Given the description of an element on the screen output the (x, y) to click on. 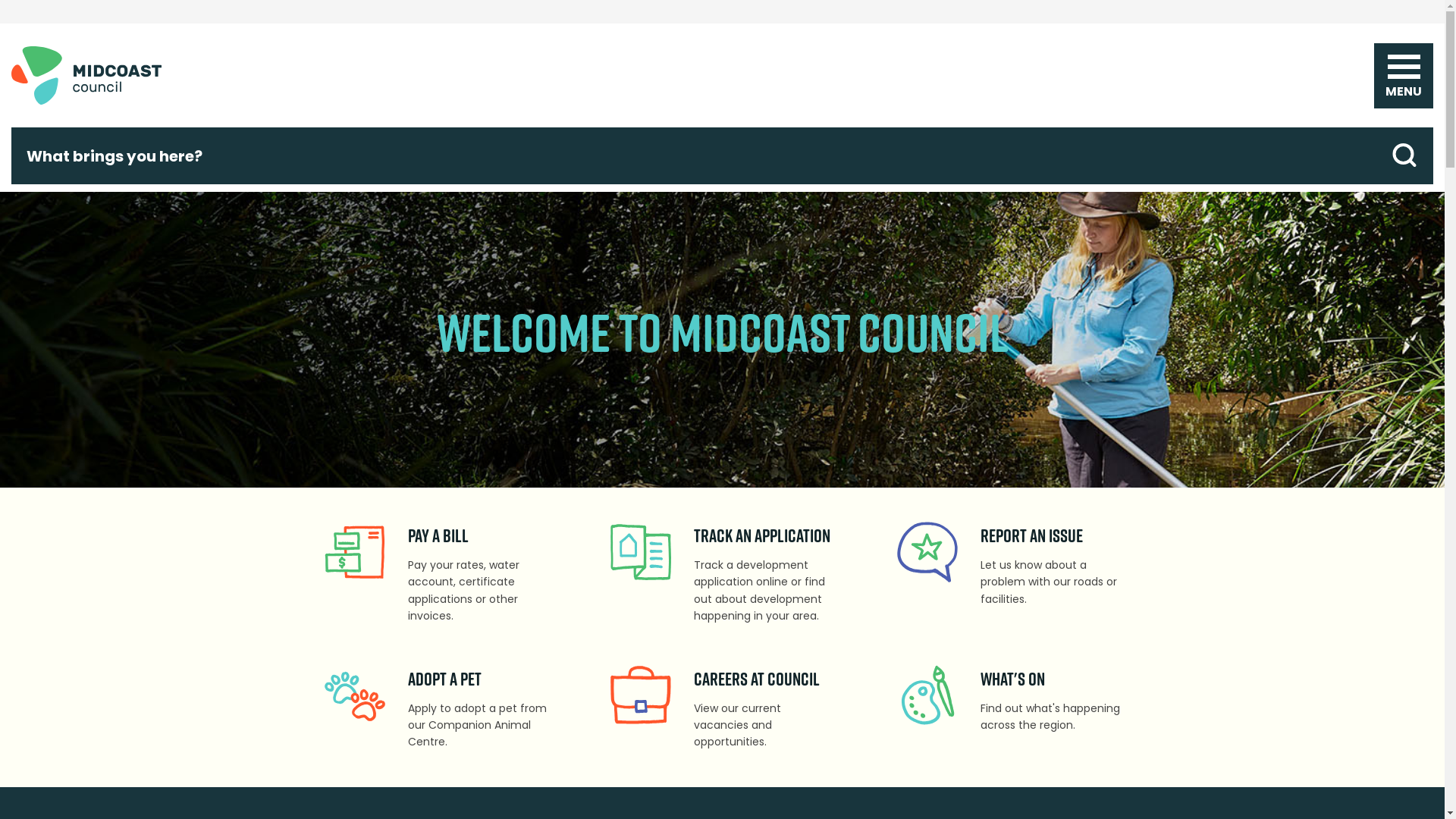
WHAT'S ON
Find out what's happening across the region. Element type: text (1007, 702)
Search Element type: text (1404, 155)
MENU Element type: text (1403, 69)
Home - MidCoast Council - Logo Element type: text (86, 75)
